Given the description of an element on the screen output the (x, y) to click on. 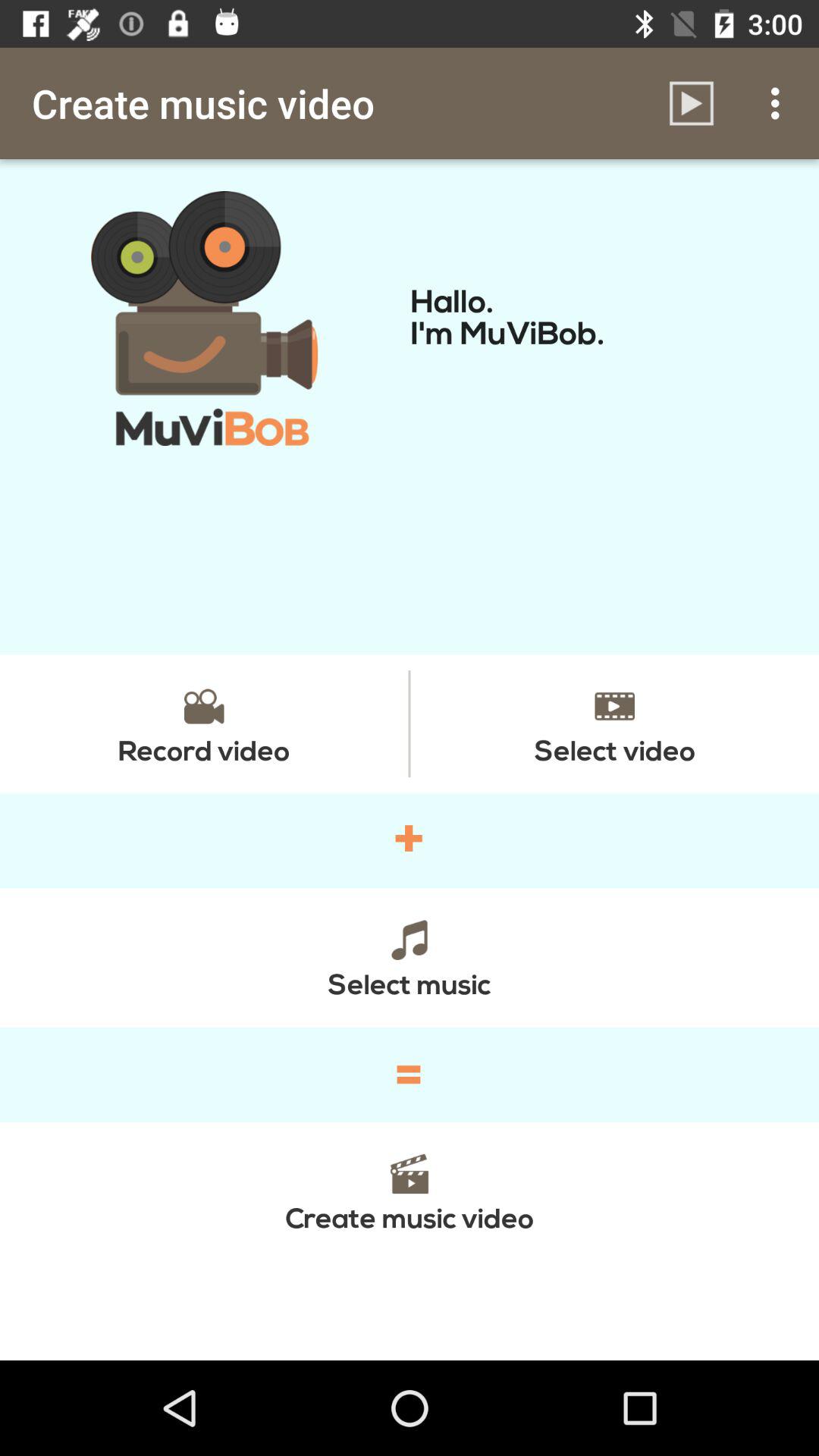
turn off item to the right of the record video item (614, 723)
